Given the description of an element on the screen output the (x, y) to click on. 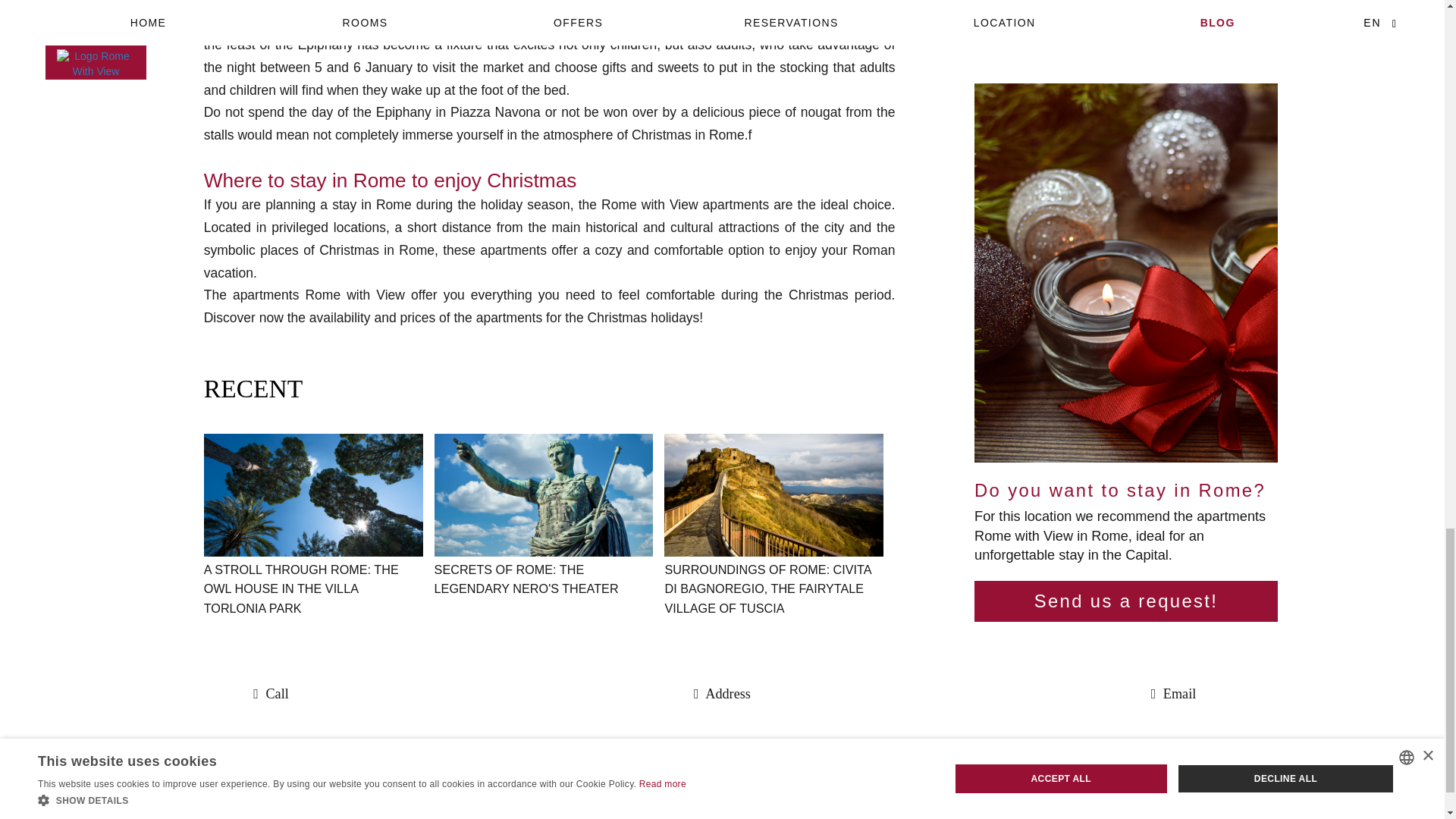
Secrets of Rome: The legendary Nero's Theater (543, 495)
Facebook (720, 752)
Rome With View (721, 801)
Secrets of Rome: The legendary Nero's Theater (525, 578)
Rome With View (721, 801)
SECRETS OF ROME: THE LEGENDARY NERO'S THEATER (525, 578)
